Given the description of an element on the screen output the (x, y) to click on. 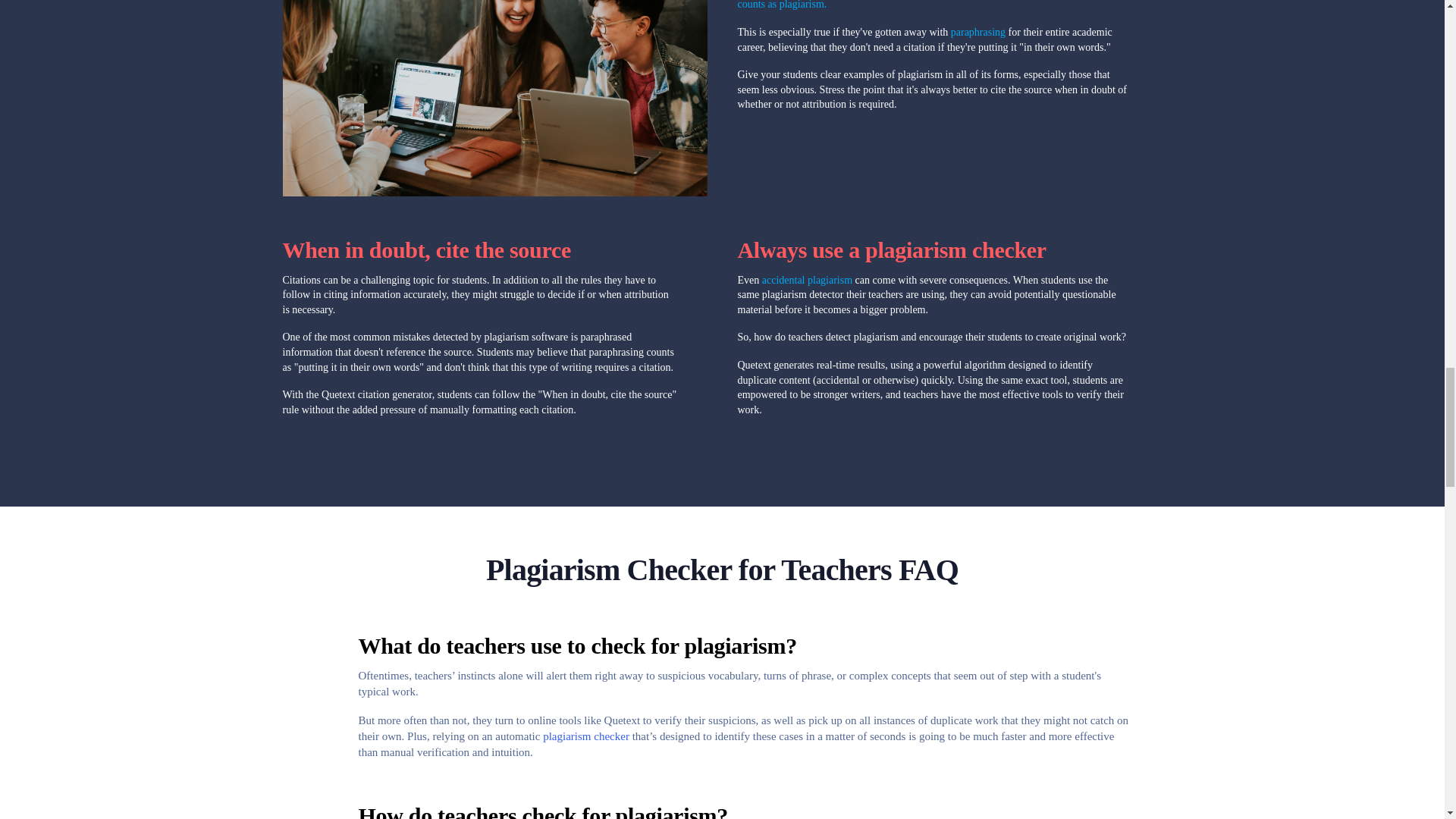
paraphrasing (979, 31)
accidental plagiarism (808, 279)
what counts as plagiarism. (922, 5)
plagiarism checker (587, 736)
